Given the description of an element on the screen output the (x, y) to click on. 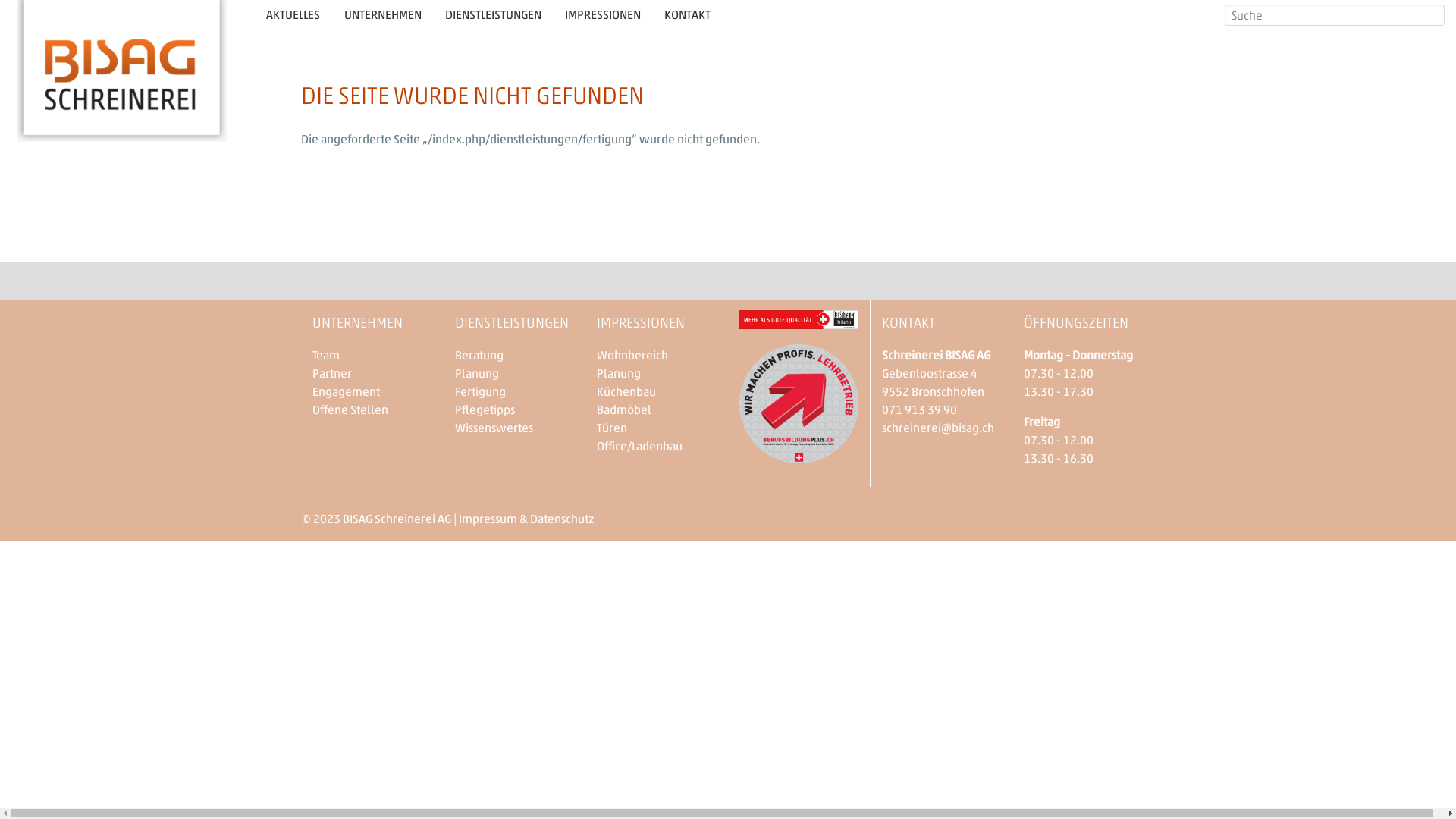
Impressum & Datenschutz Element type: text (525, 518)
Beratung Element type: text (479, 355)
Offene Stellen Element type: text (350, 409)
Wissenswertes Element type: text (494, 427)
DIENSTLEISTUNGEN Element type: text (492, 15)
Team Element type: text (325, 355)
Planung Element type: text (476, 373)
Office/Ladenbau Element type: text (639, 446)
Direkt zum Inhalt Element type: text (0, 0)
AKTUELLES Element type: text (293, 15)
schreinerei@bisag.ch Element type: text (937, 427)
KONTAKT Element type: text (687, 15)
Wohnbereich Element type: text (632, 355)
UNTERNEHMEN Element type: text (382, 15)
Fertigung Element type: text (480, 391)
Enter the keywords you wish to search for. Element type: hover (1334, 14)
IMPRESSIONEN Element type: text (602, 15)
Partner Element type: text (331, 373)
Startseite Element type: hover (121, 142)
Pflegetipps Element type: text (484, 409)
Engagement Element type: text (345, 391)
Planung Element type: text (618, 373)
